Given the description of an element on the screen output the (x, y) to click on. 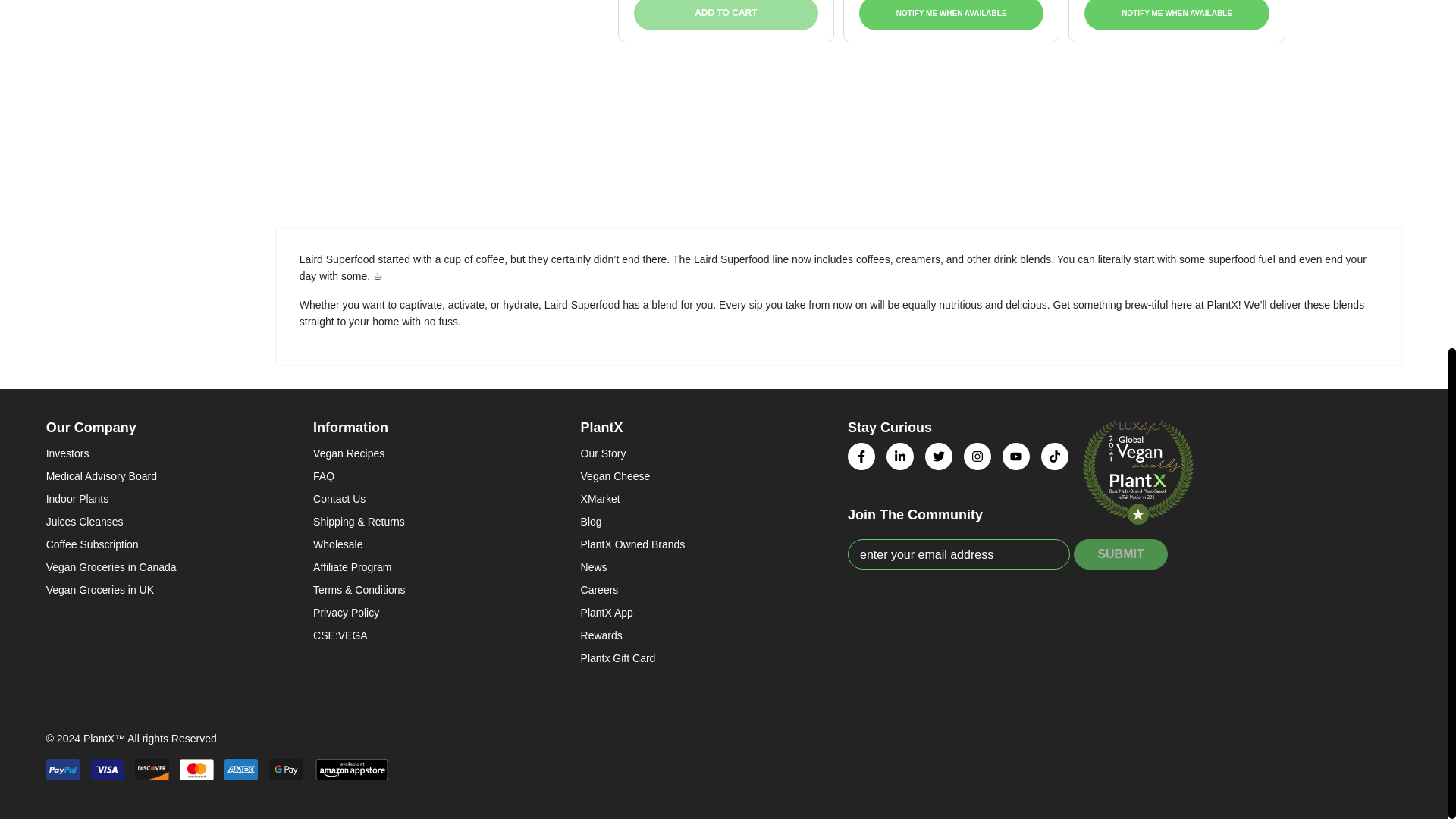
YouTube (1016, 456)
Tiktok (1054, 456)
Submit (1120, 553)
Facebook (861, 456)
Twitter (938, 456)
Linkedin (900, 456)
Instagram (977, 456)
